Given the description of an element on the screen output the (x, y) to click on. 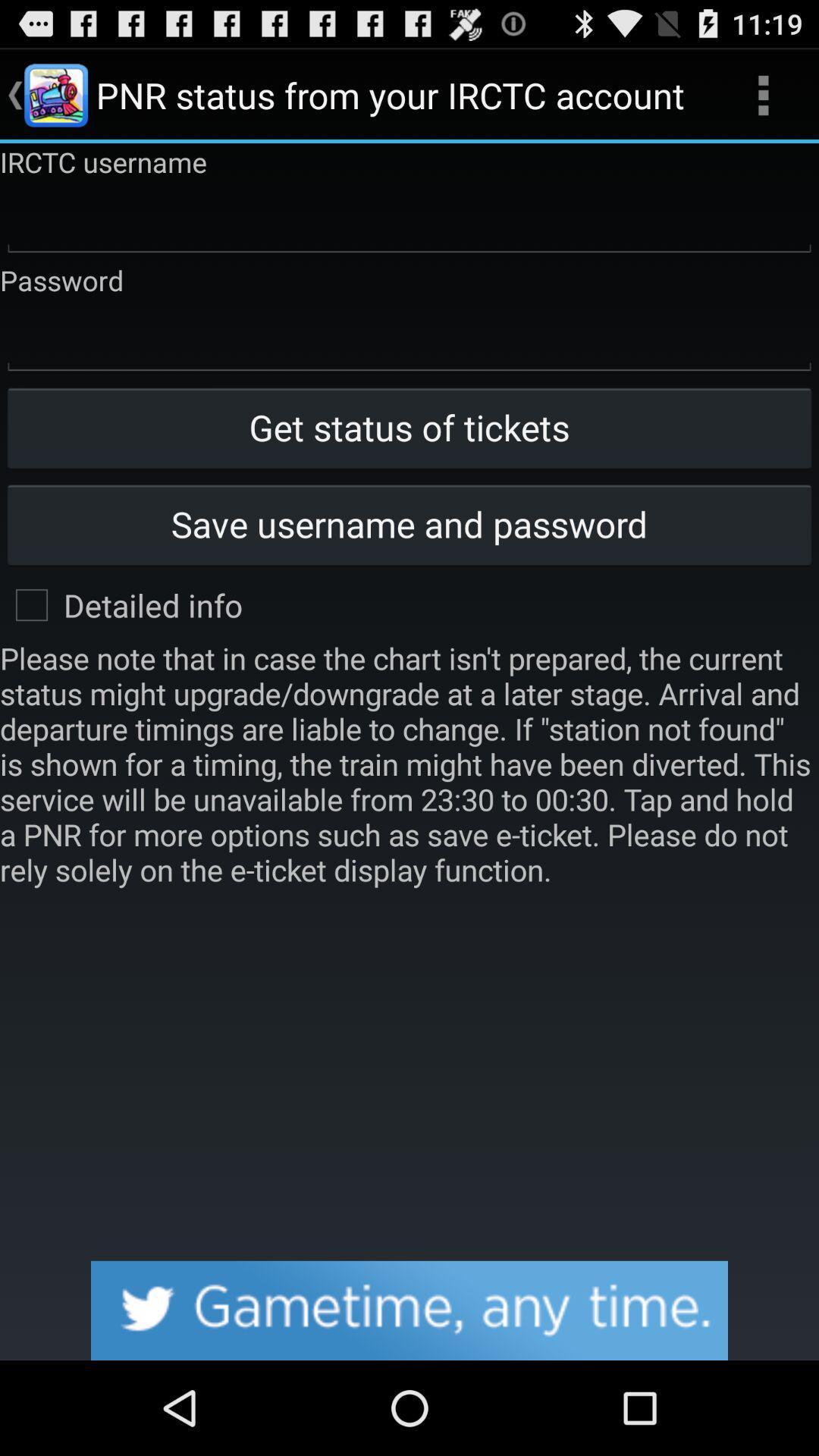
enter username (409, 221)
